Given the description of an element on the screen output the (x, y) to click on. 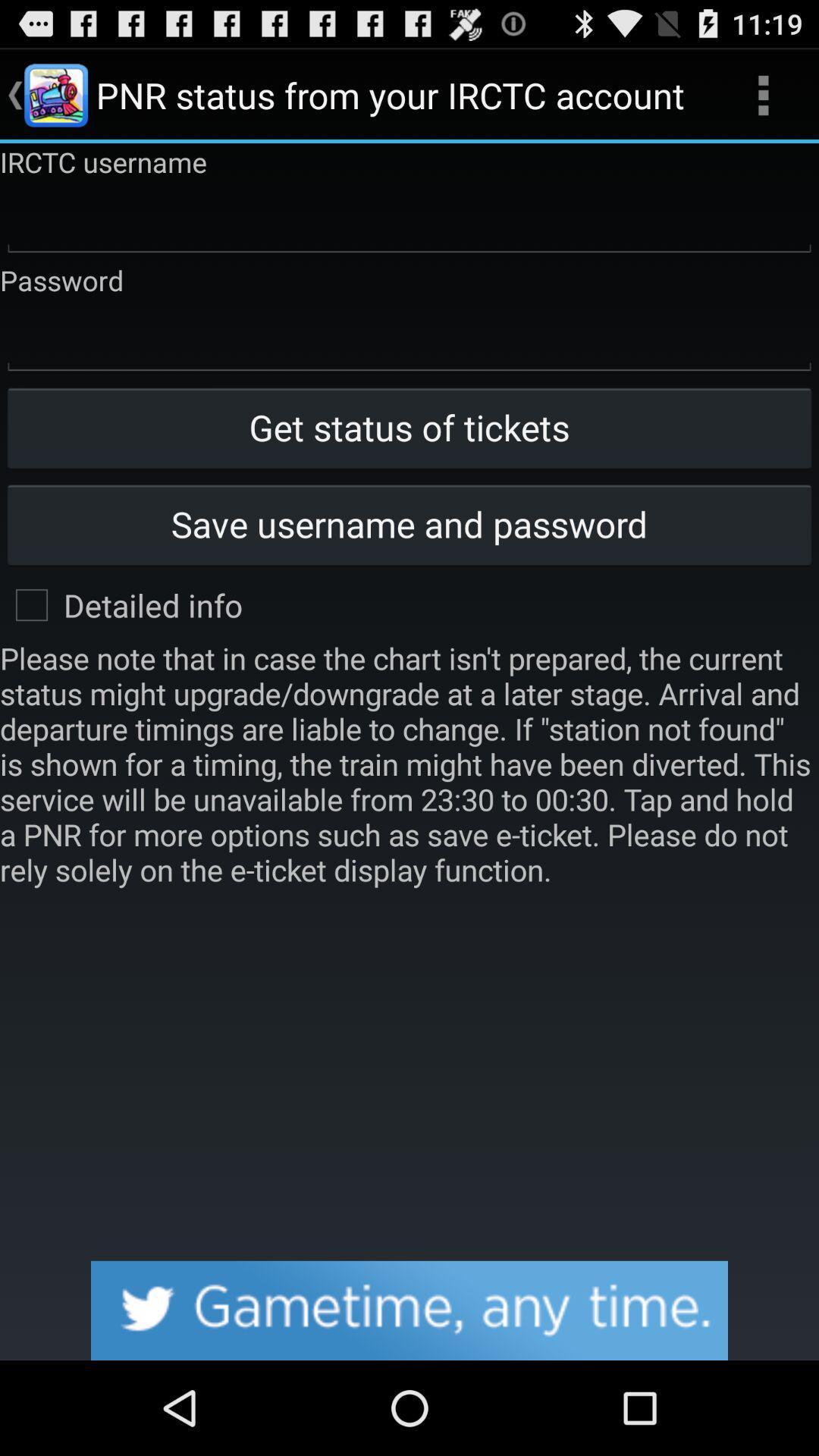
enter username (409, 221)
